Given the description of an element on the screen output the (x, y) to click on. 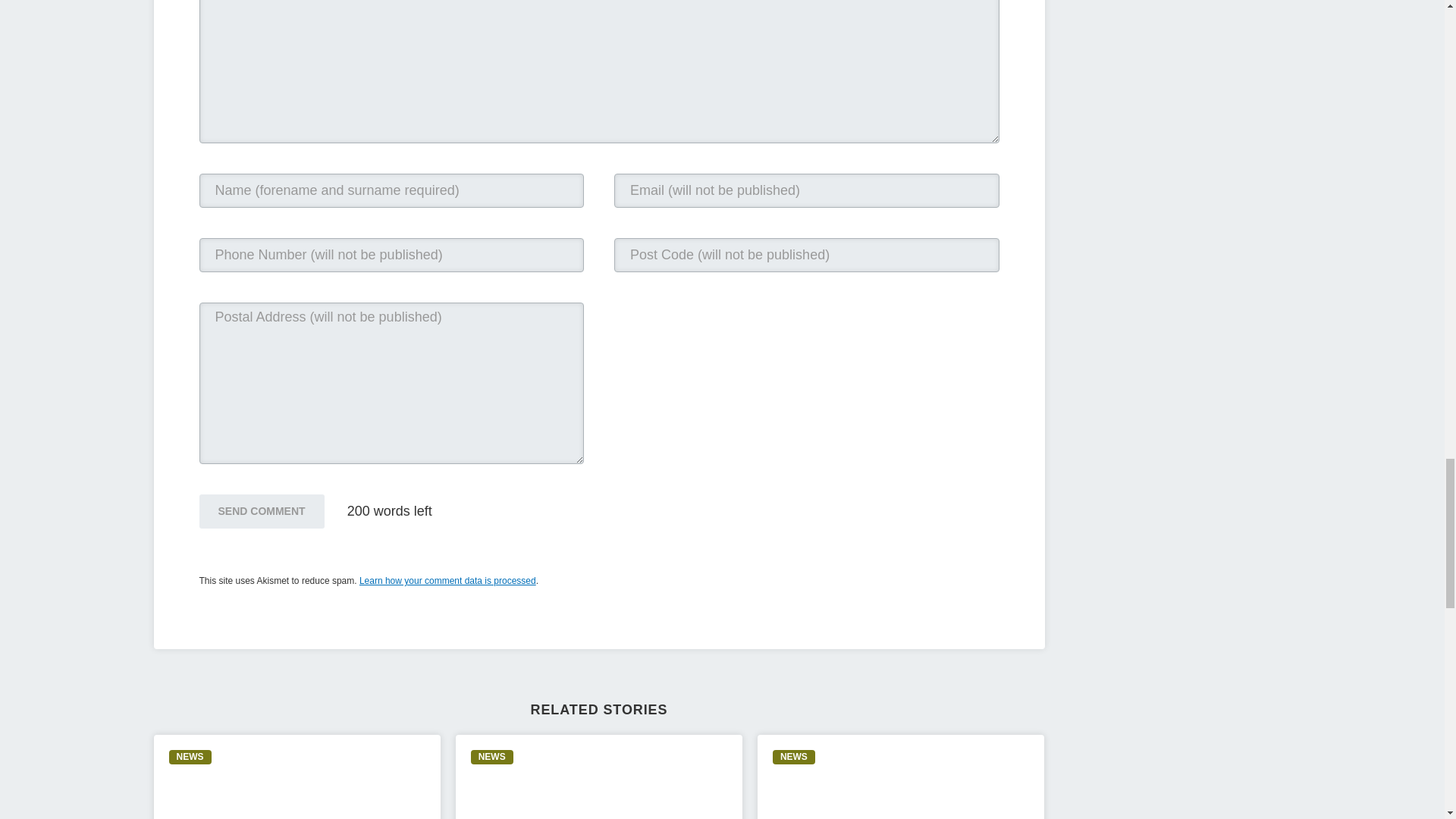
NEWS (794, 757)
NEWS (491, 757)
NEWS (189, 757)
SEND COMMENT (260, 511)
Learn how your comment data is processed (447, 580)
